Given the description of an element on the screen output the (x, y) to click on. 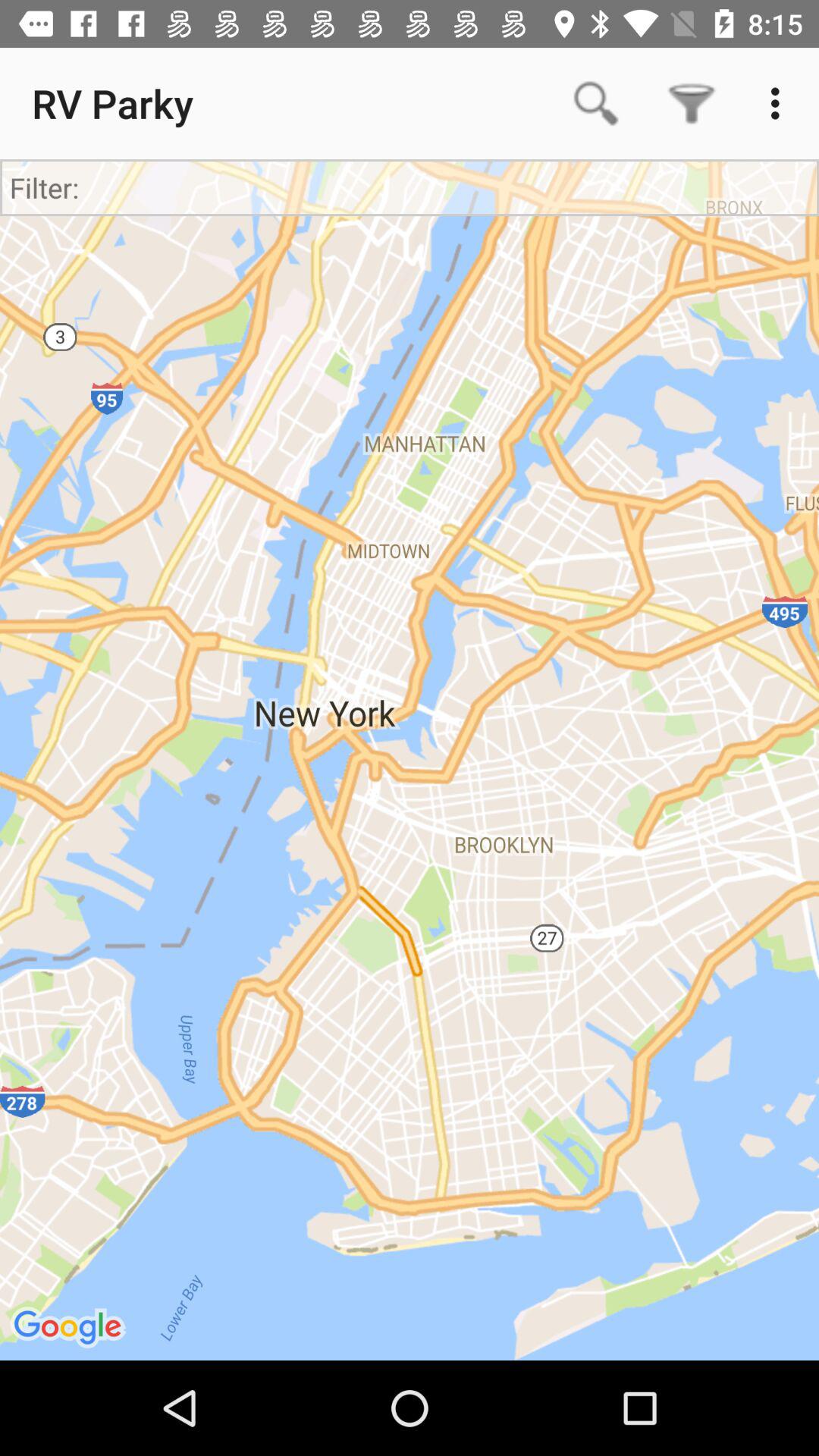
select app next to rv parky icon (595, 103)
